Given the description of an element on the screen output the (x, y) to click on. 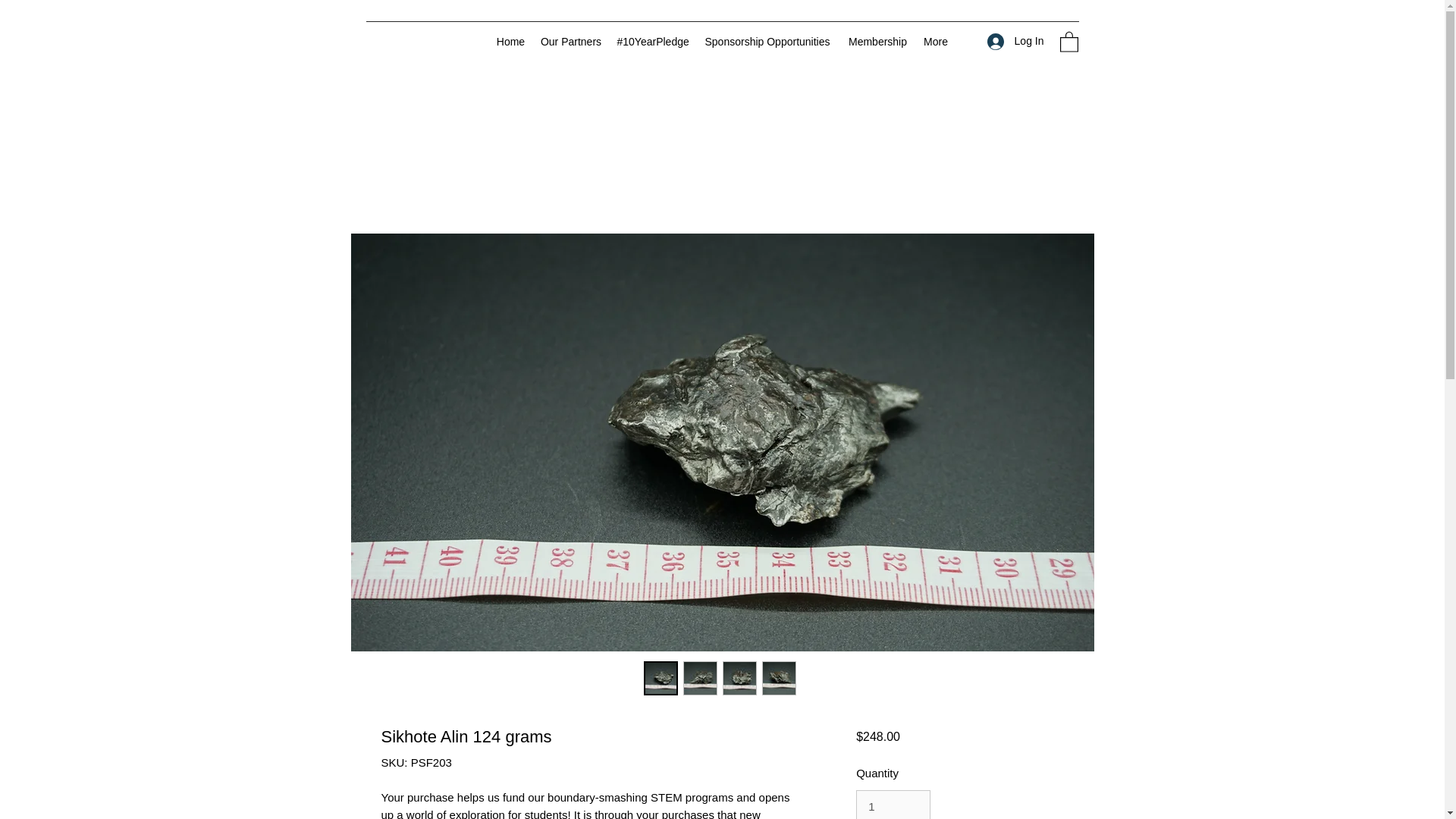
Our Partners (570, 41)
1 (893, 804)
Membership (877, 41)
Log In (1015, 41)
Sponsorship Opportunities (767, 41)
Home (509, 41)
